Given the description of an element on the screen output the (x, y) to click on. 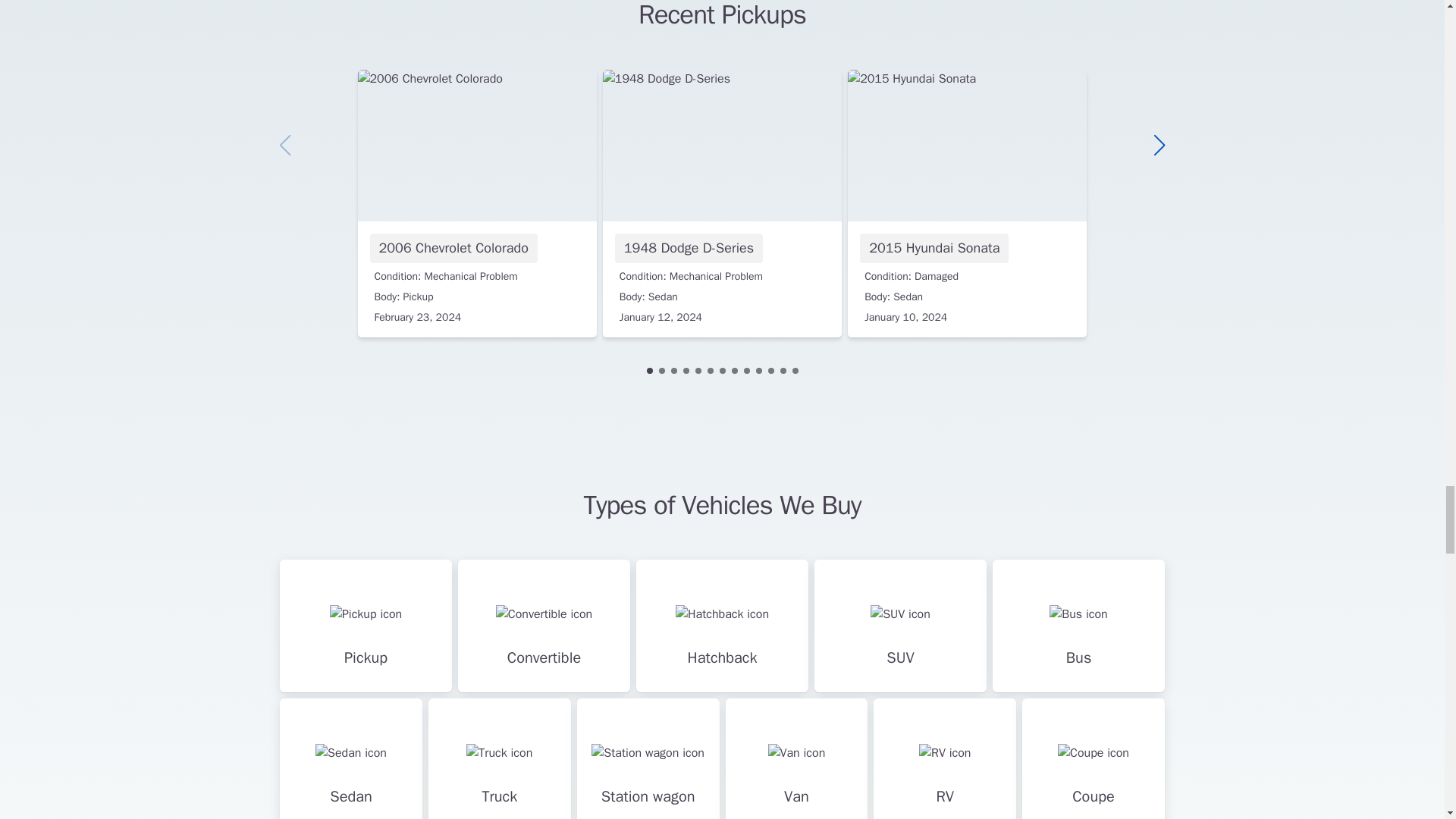
1948 Dodge D-Series (721, 203)
2006 Chevrolet Colorado (477, 203)
2015 Hyundai Sonata (966, 203)
